Given the description of an element on the screen output the (x, y) to click on. 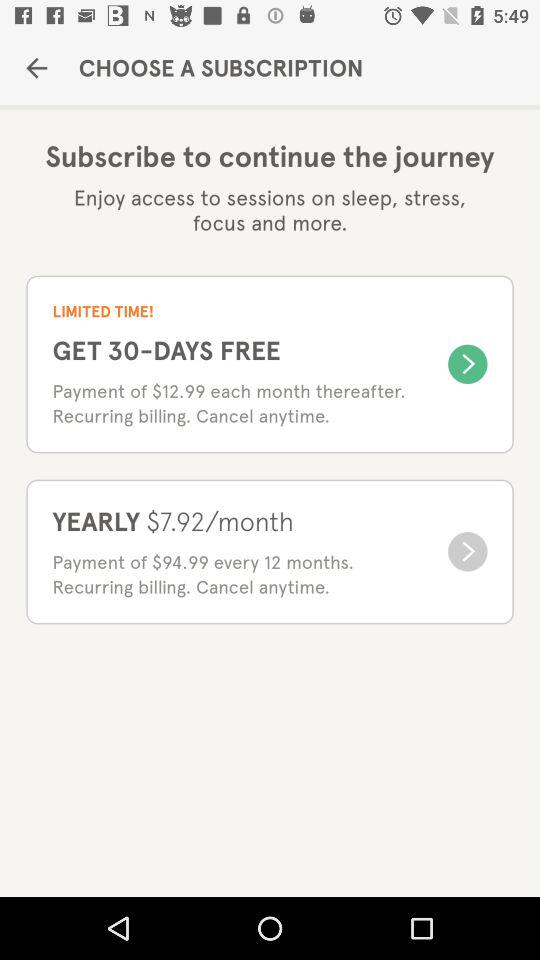
press item next to choose a subscription item (36, 68)
